Given the description of an element on the screen output the (x, y) to click on. 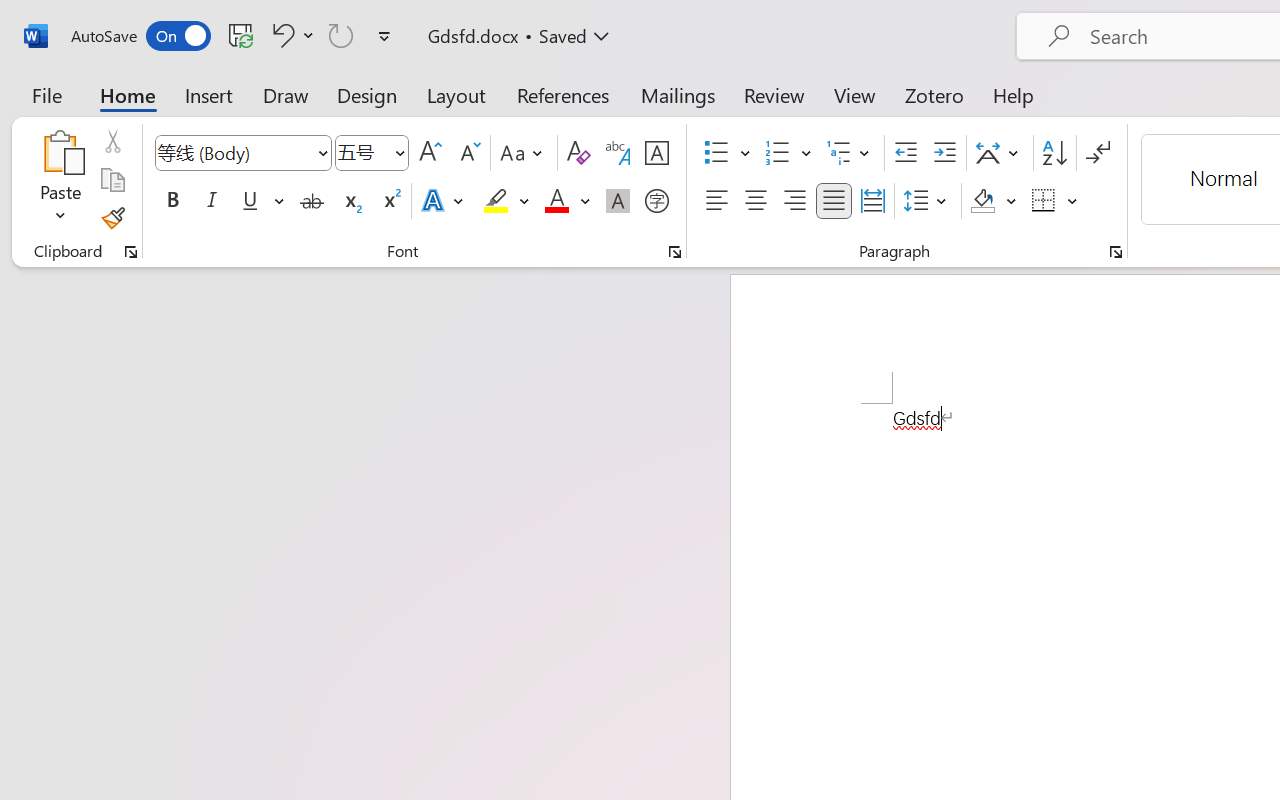
Line and Paragraph Spacing (927, 201)
Phonetic Guide... (618, 153)
Text Highlight Color (506, 201)
Asian Layout (1000, 153)
Distributed (872, 201)
Clear Formatting (578, 153)
Office Clipboard... (131, 252)
